Given the description of an element on the screen output the (x, y) to click on. 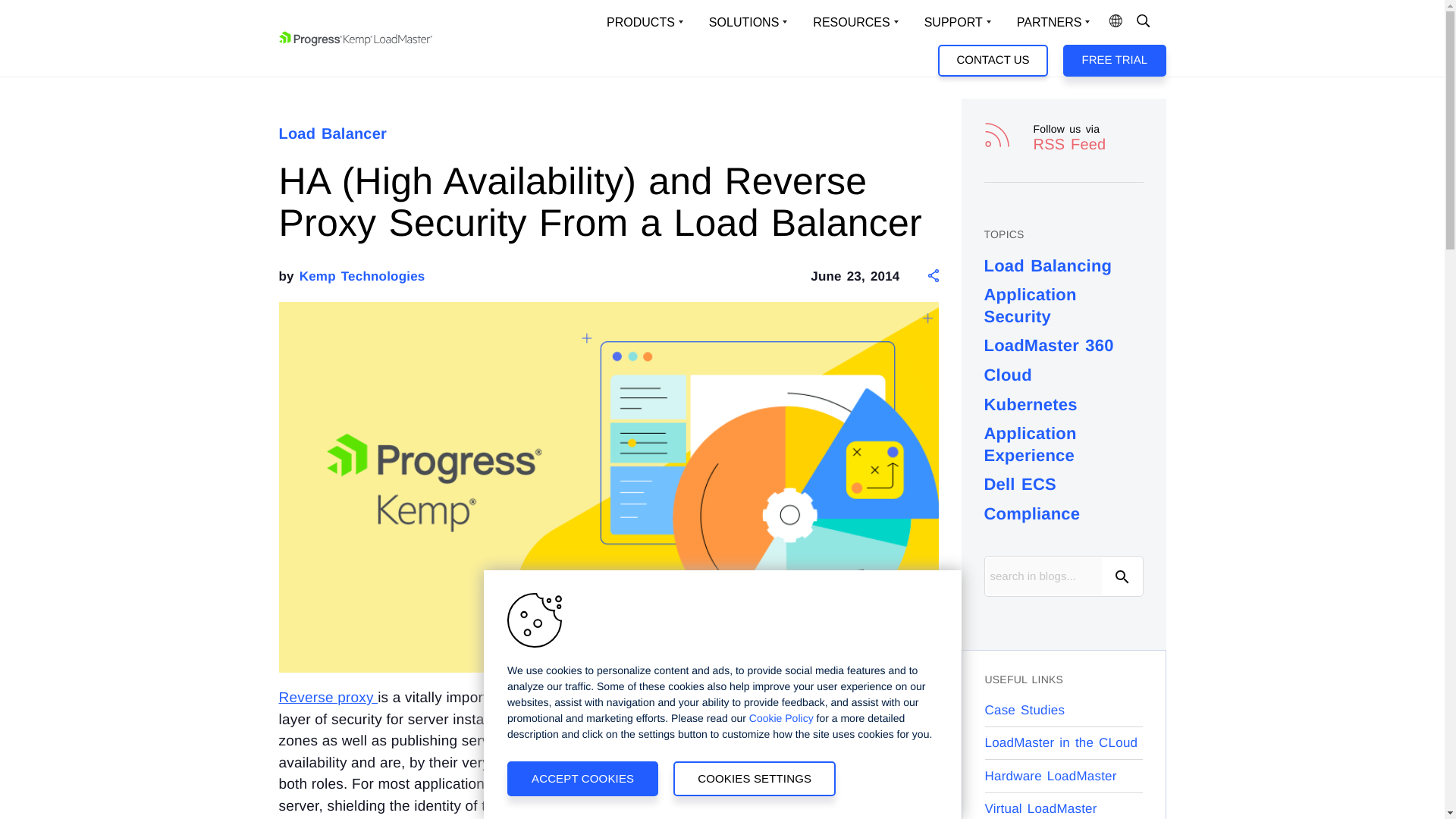
SOLUTIONS (747, 22)
PRODUCTS (644, 22)
RESOURCES (855, 22)
SKIP NAVIGATION (343, 27)
